Given the description of an element on the screen output the (x, y) to click on. 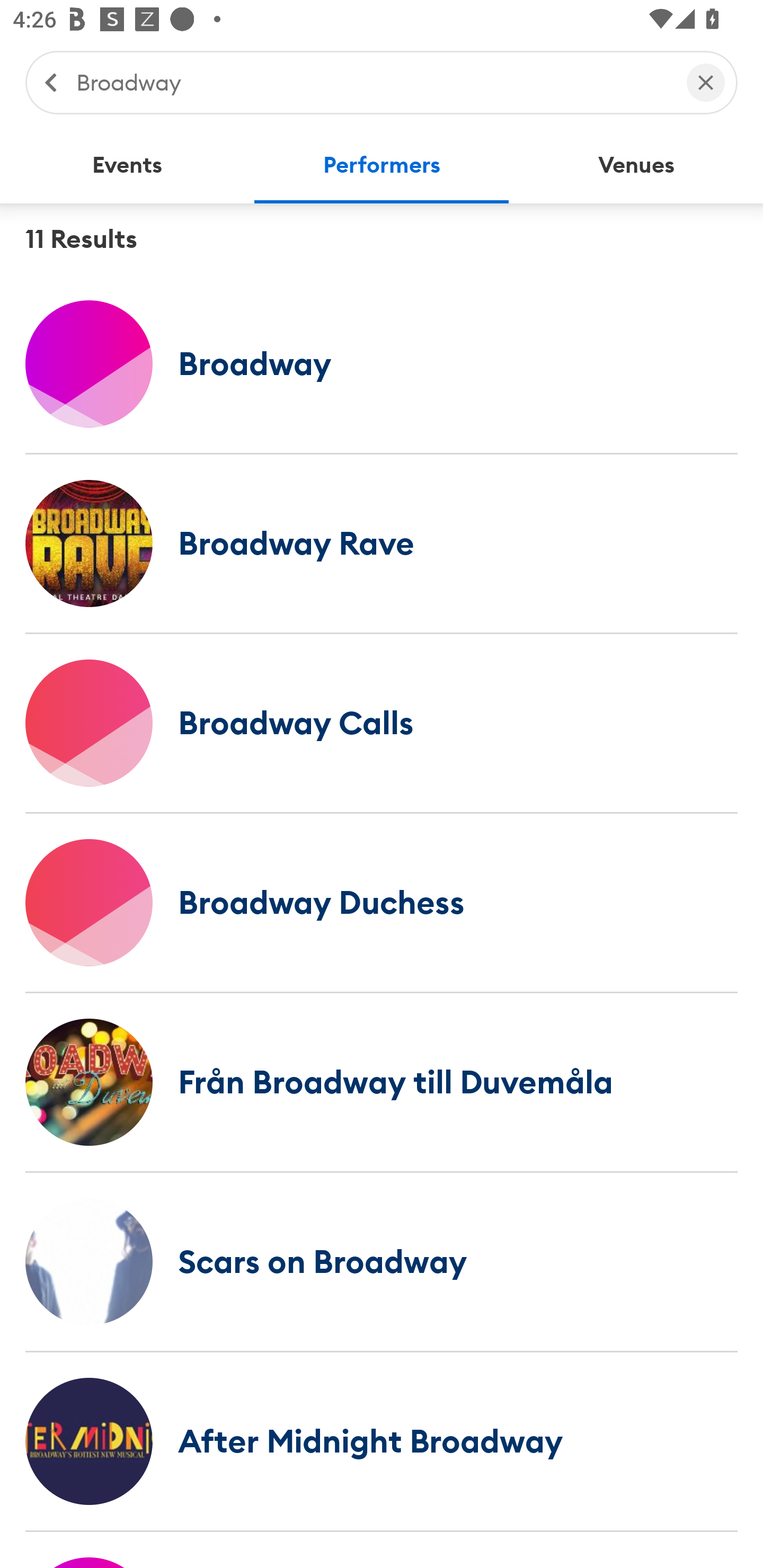
Broadway (371, 81)
Clear Search (705, 81)
Events (127, 165)
Venues (635, 165)
Broadway (381, 363)
Broadway Rave (381, 542)
Broadway Calls (381, 722)
Broadway Duchess (381, 901)
Från Broadway till Duvemåla (381, 1081)
Scars on Broadway (381, 1261)
After Midnight Broadway (381, 1440)
